Given the description of an element on the screen output the (x, y) to click on. 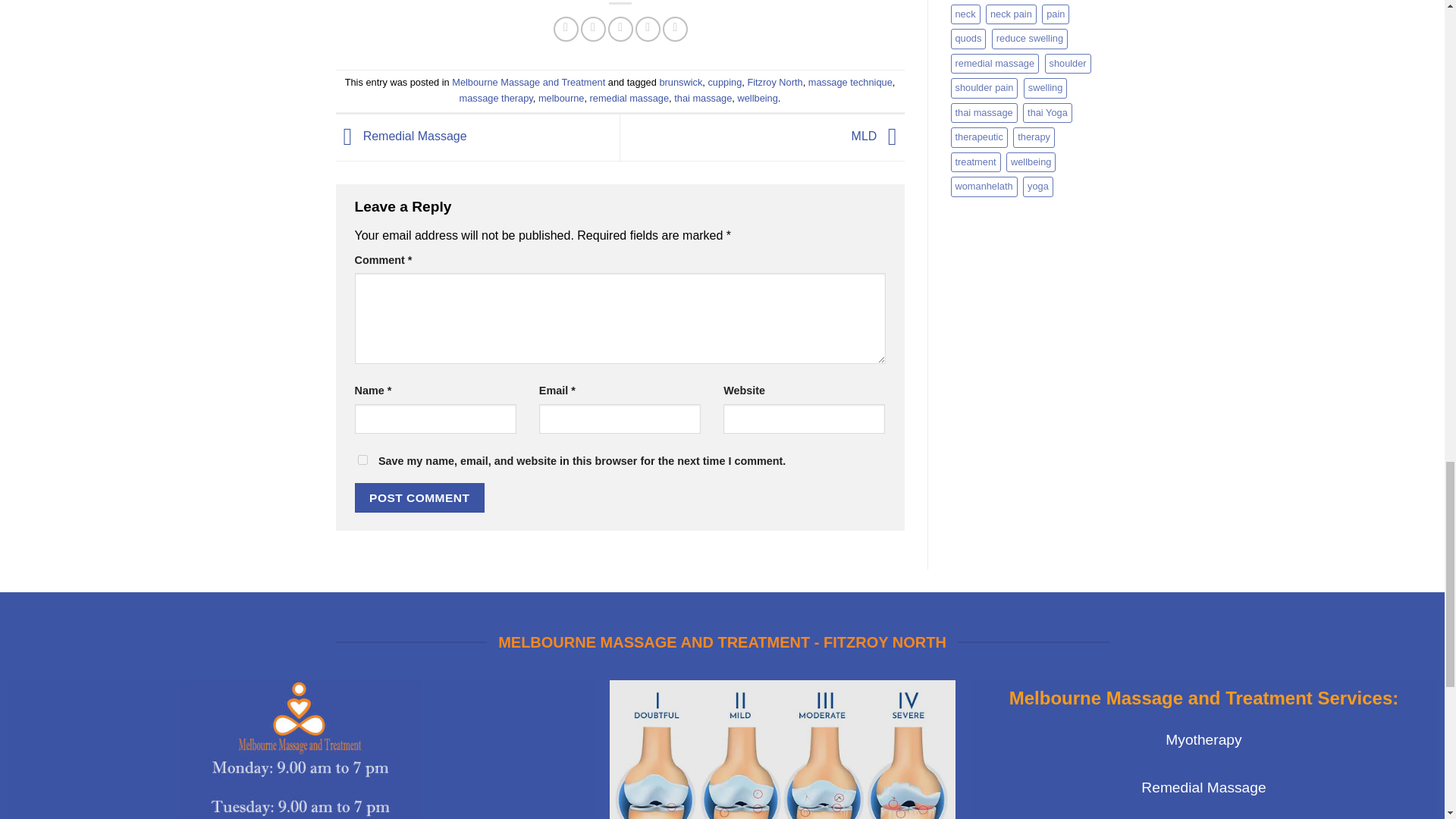
Share on LinkedIn (674, 28)
Share on Twitter (592, 28)
Share on Facebook (565, 28)
yes (363, 460)
Post Comment (419, 497)
Email to a Friend (620, 28)
Pin on Pinterest (647, 28)
